Given the description of an element on the screen output the (x, y) to click on. 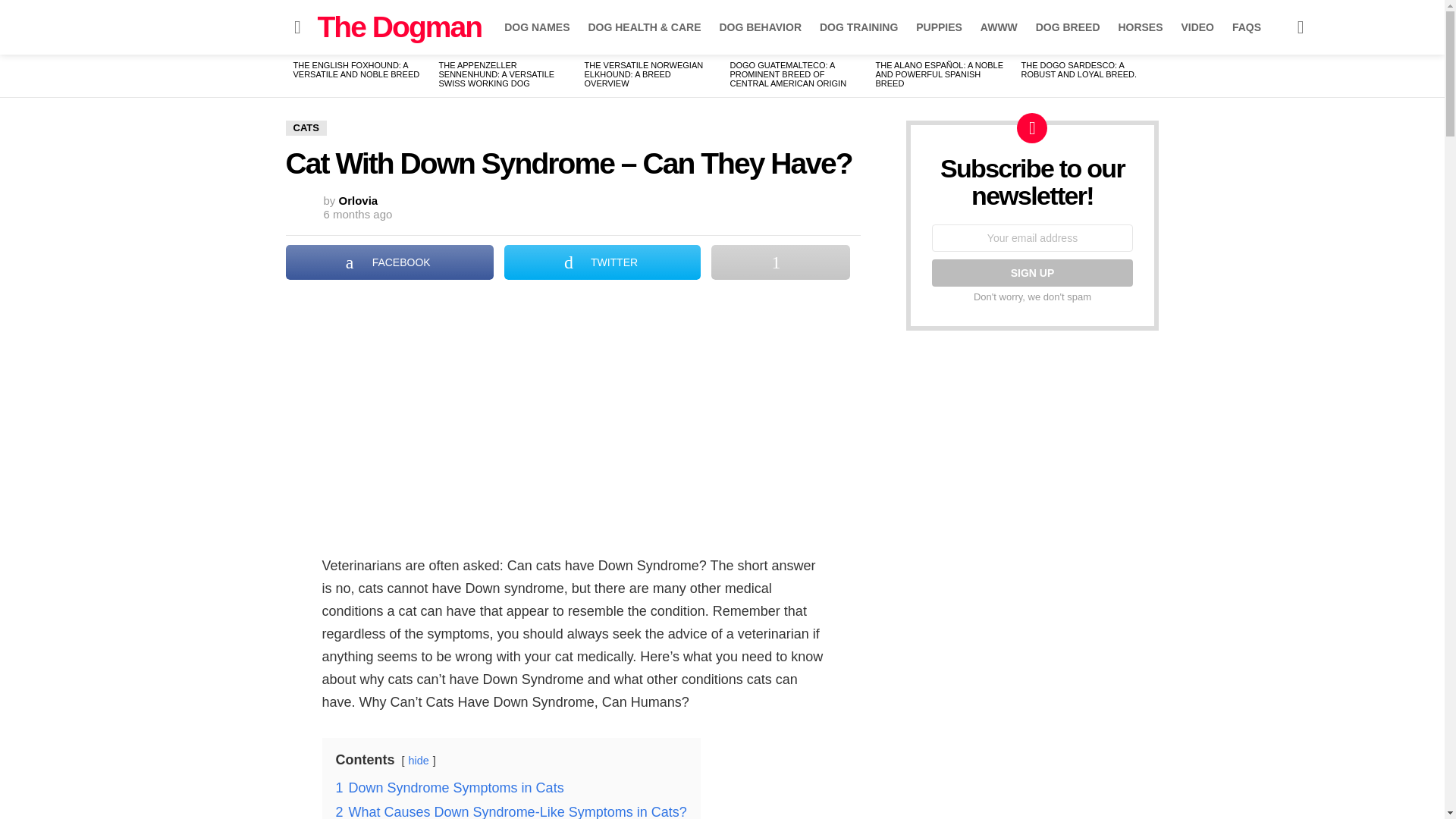
February 9, 2024, 3:09 am (357, 214)
DOG TRAINING (858, 26)
Posts by Orlovia (358, 200)
THE ENGLISH FOXHOUND: A VERSATILE AND NOBLE BREED (355, 69)
DOG BEHAVIOR (760, 26)
Share on More Button (779, 262)
DOG NAMES (536, 26)
Orlovia (358, 200)
THE VERSATILE NORWEGIAN ELKHOUND: A BREED OVERVIEW (643, 73)
1 Down Syndrome Symptoms in Cats (448, 787)
